Given the description of an element on the screen output the (x, y) to click on. 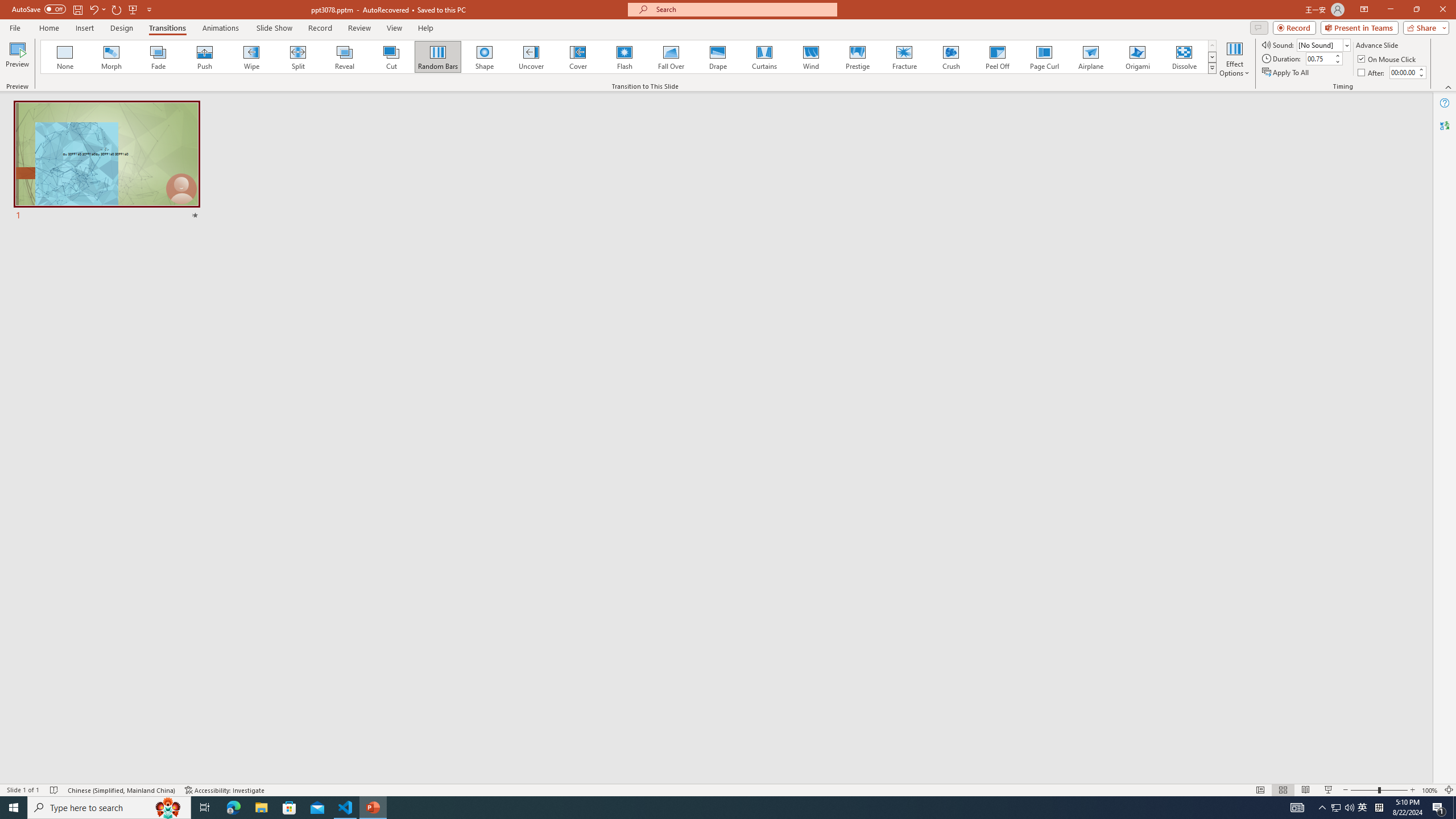
Duration (1319, 58)
Prestige (857, 56)
Flash (624, 56)
Apply To All (1286, 72)
